Given the description of an element on the screen output the (x, y) to click on. 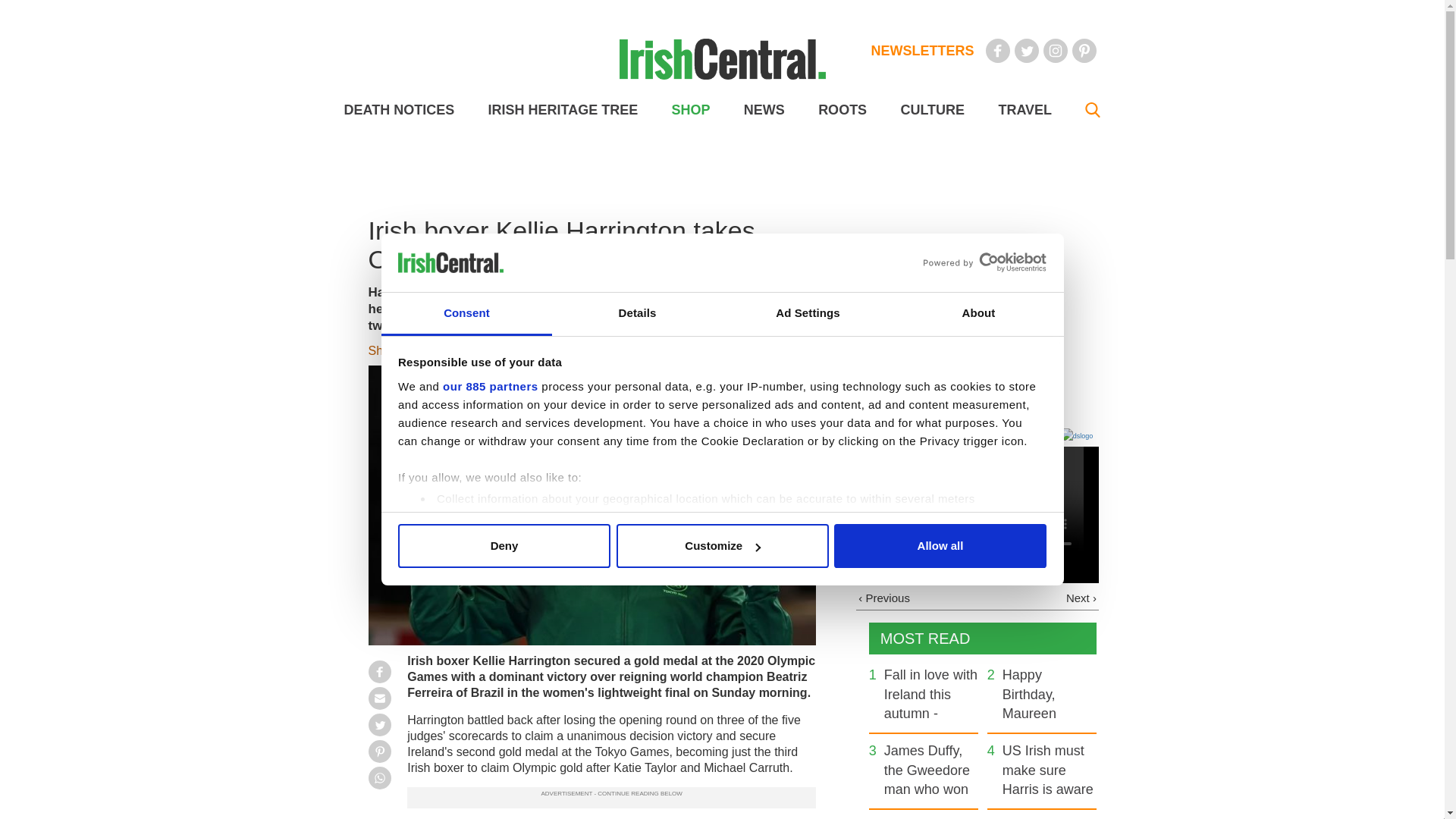
Details (636, 313)
About (978, 313)
details section (927, 536)
Consent (465, 313)
Ad Settings (807, 313)
our 885 partners (490, 386)
